Given the description of an element on the screen output the (x, y) to click on. 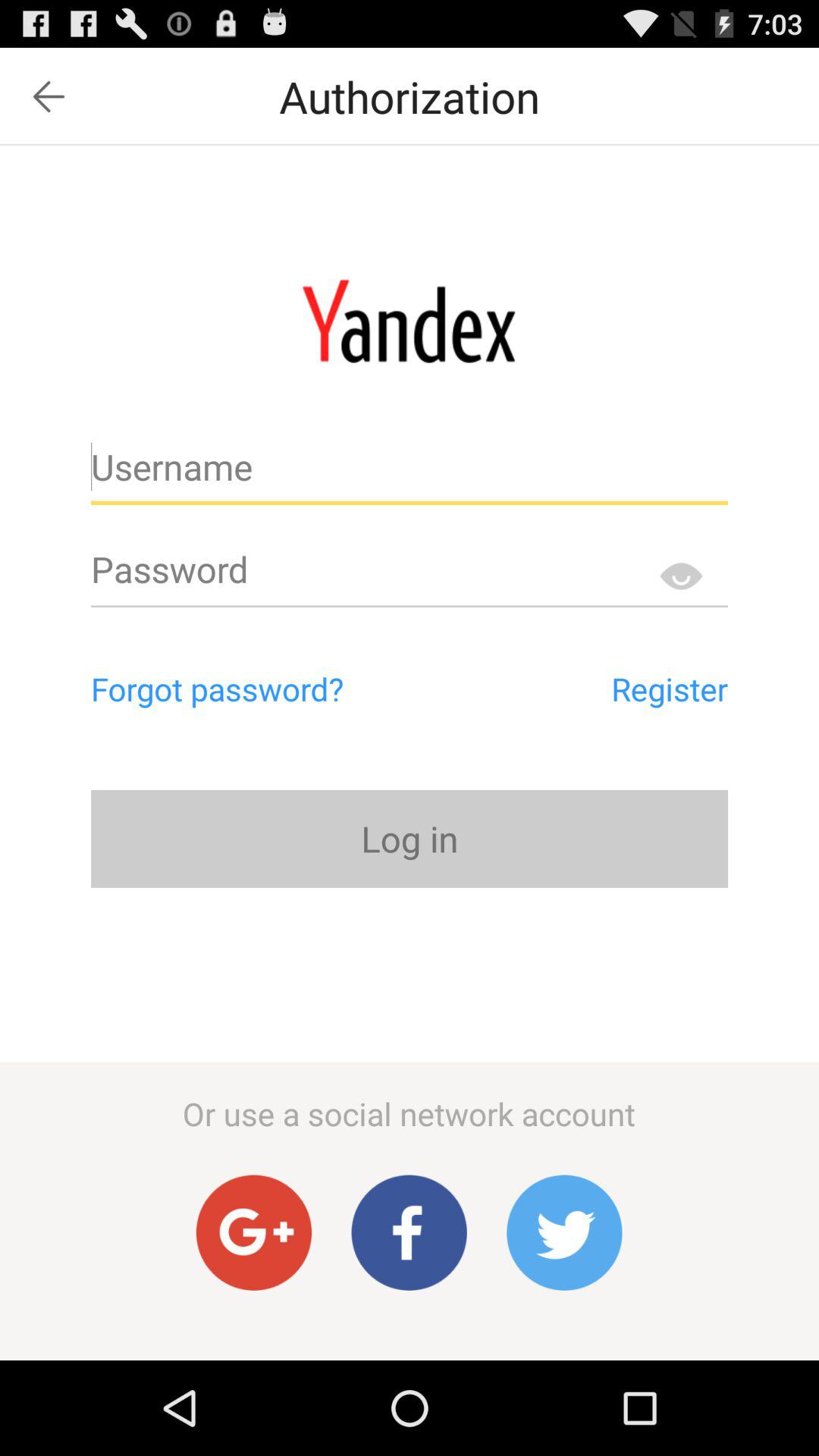
flip to the forgot password? item (282, 688)
